Given the description of an element on the screen output the (x, y) to click on. 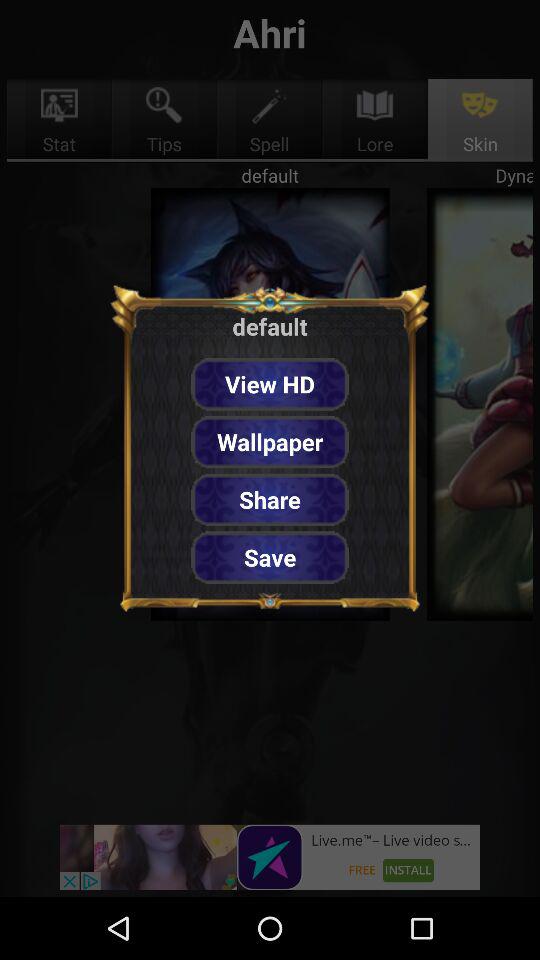
tap wallpaper icon (269, 441)
